Given the description of an element on the screen output the (x, y) to click on. 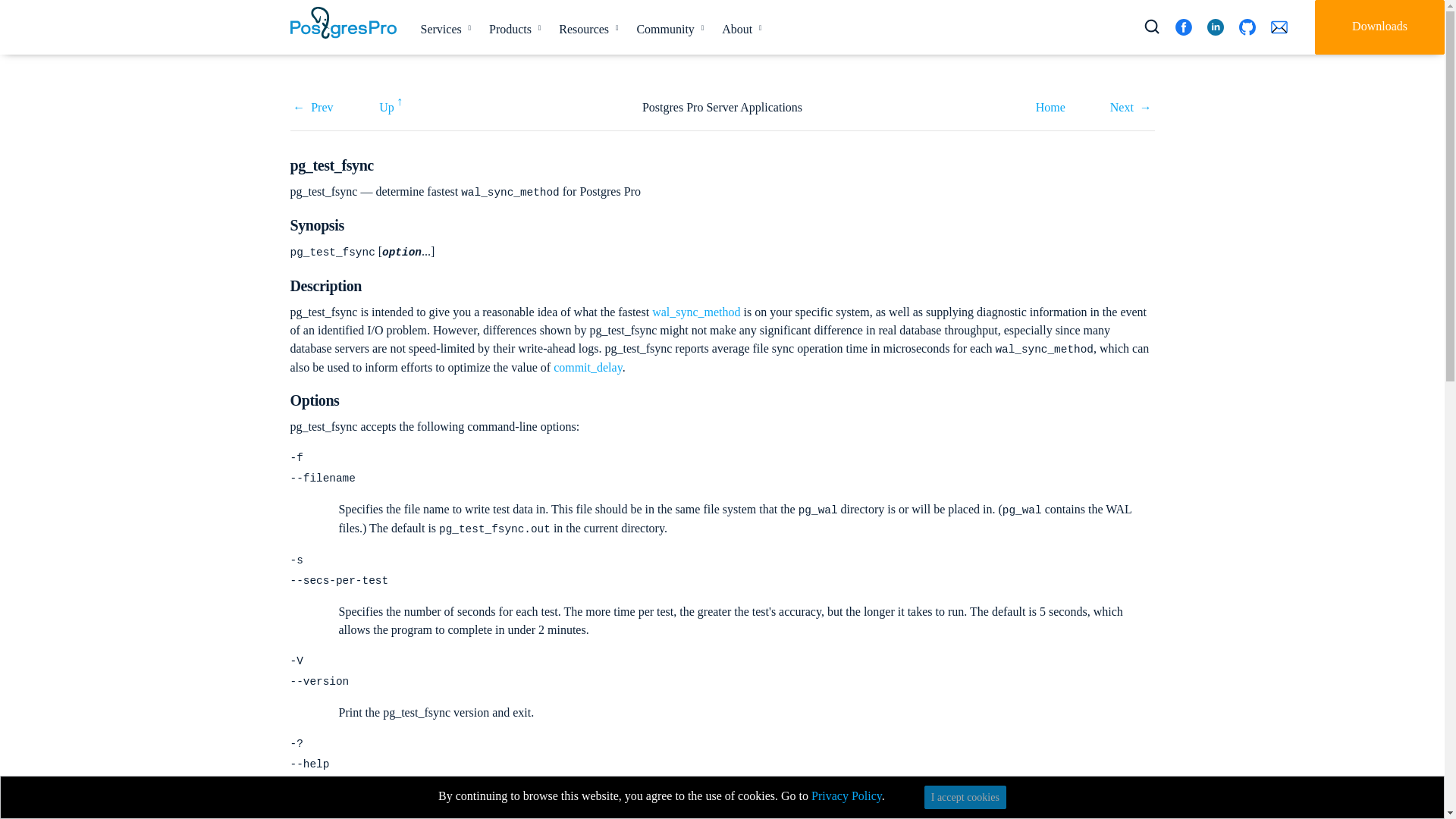
Postgres Pro Server Applications (390, 104)
pg-setup (312, 106)
Services (442, 28)
Postgres Pro (342, 22)
Facebook (1183, 27)
Products (512, 28)
Postgres Pro Enterprise 13.15.2 Documentation (1050, 106)
